Given the description of an element on the screen output the (x, y) to click on. 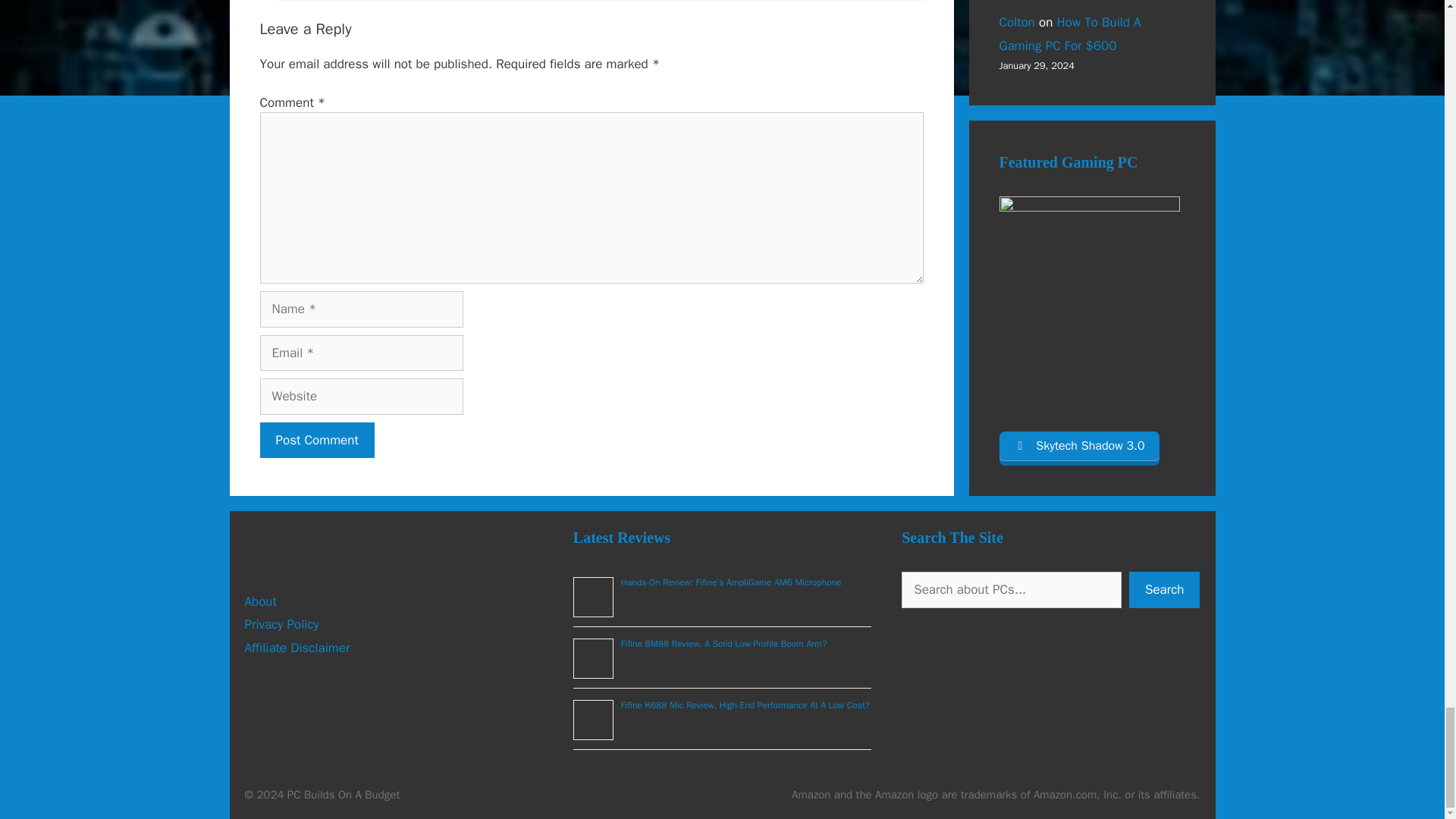
Shift-click to edit this widget. (995, 794)
Post Comment (316, 440)
